Given the description of an element on the screen output the (x, y) to click on. 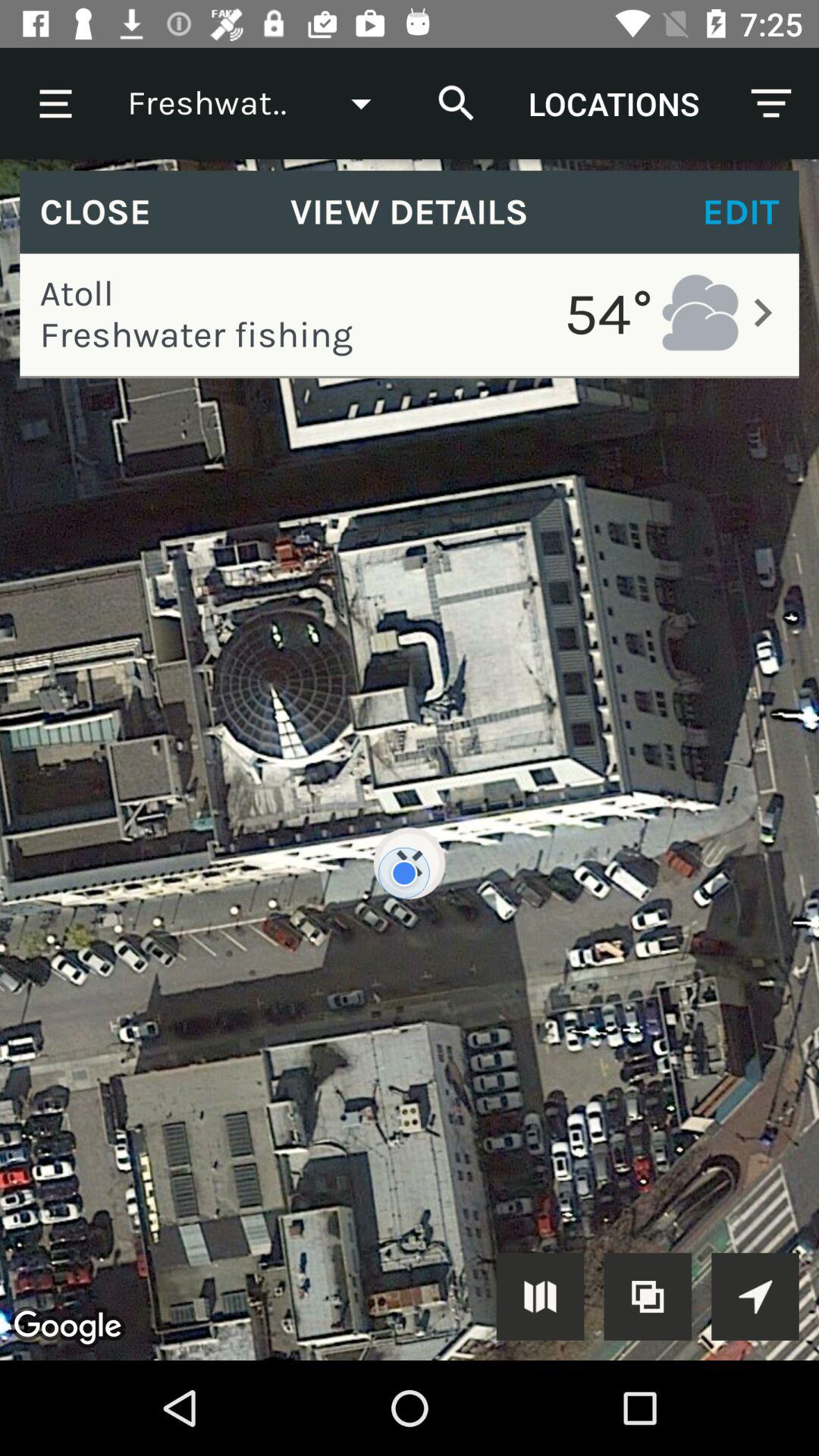
show on map (540, 1296)
